Given the description of an element on the screen output the (x, y) to click on. 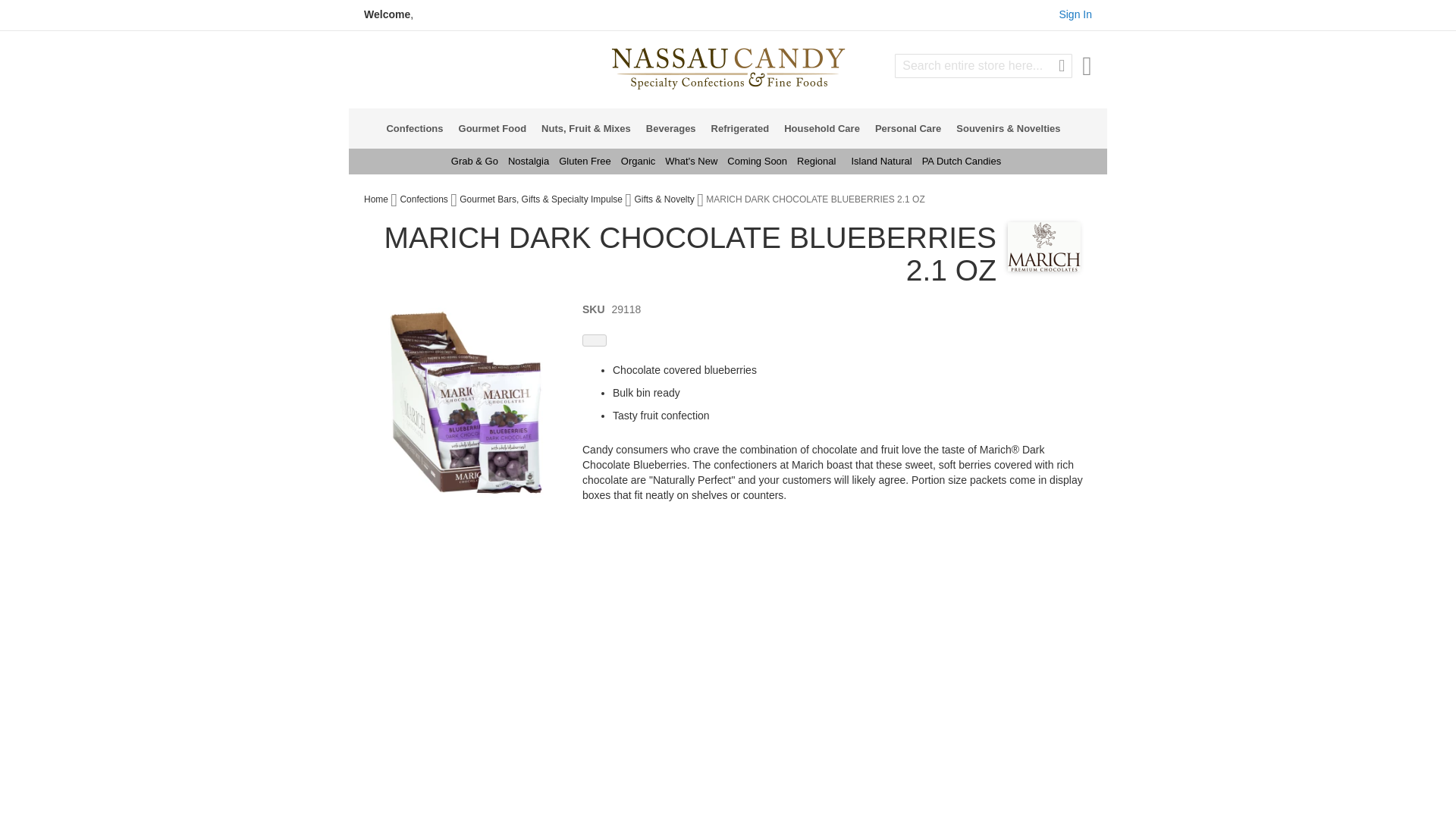
Gourmet Food (496, 128)
Confections (418, 128)
Sign In (1075, 14)
Go to Home Page (377, 199)
